Given the description of an element on the screen output the (x, y) to click on. 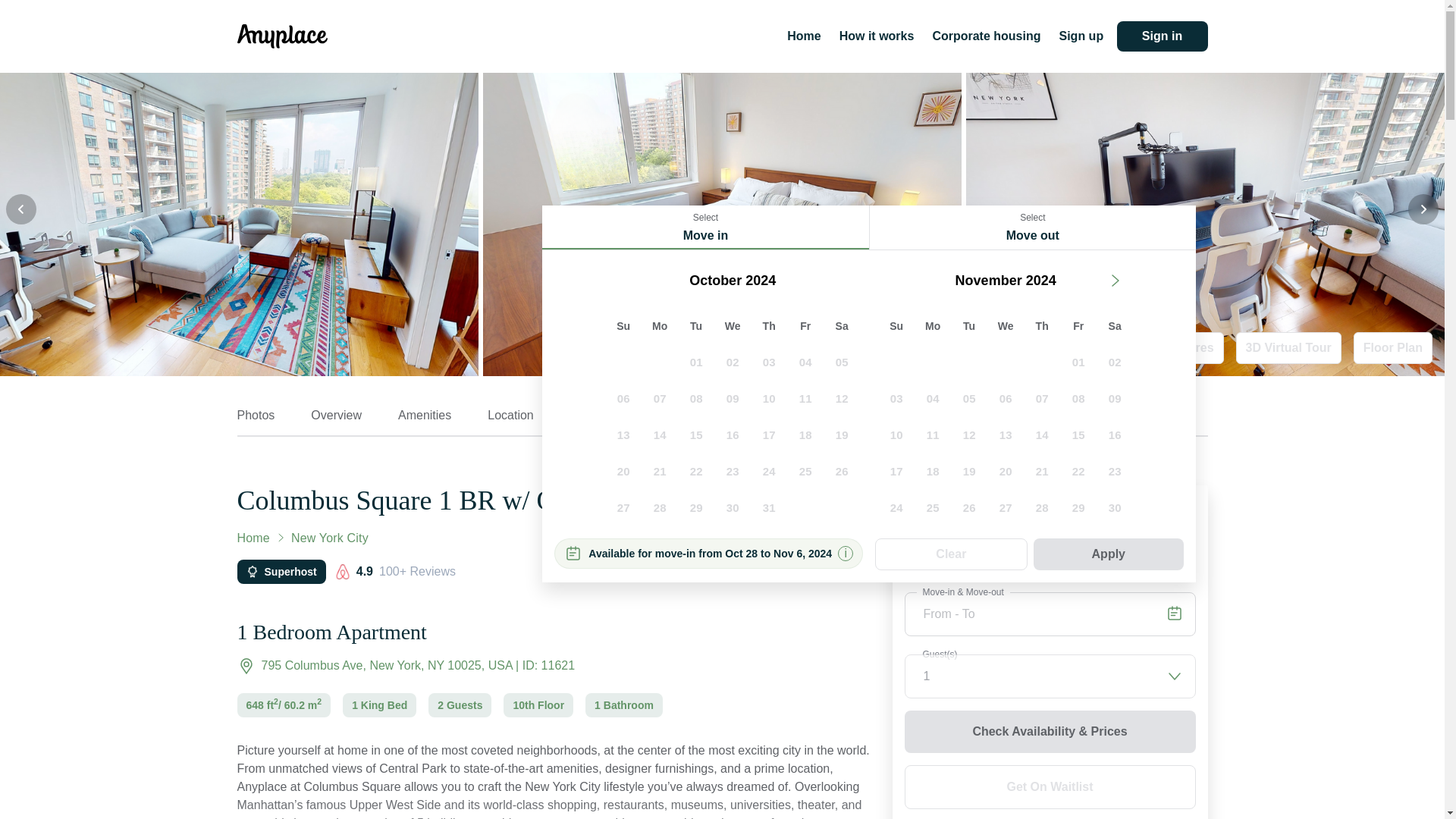
Sign in (1161, 36)
How it works (877, 36)
Corporate housing (986, 36)
Next Month (1114, 280)
Home (804, 36)
Sign up (1080, 35)
Anyplace (280, 36)
